Given the description of an element on the screen output the (x, y) to click on. 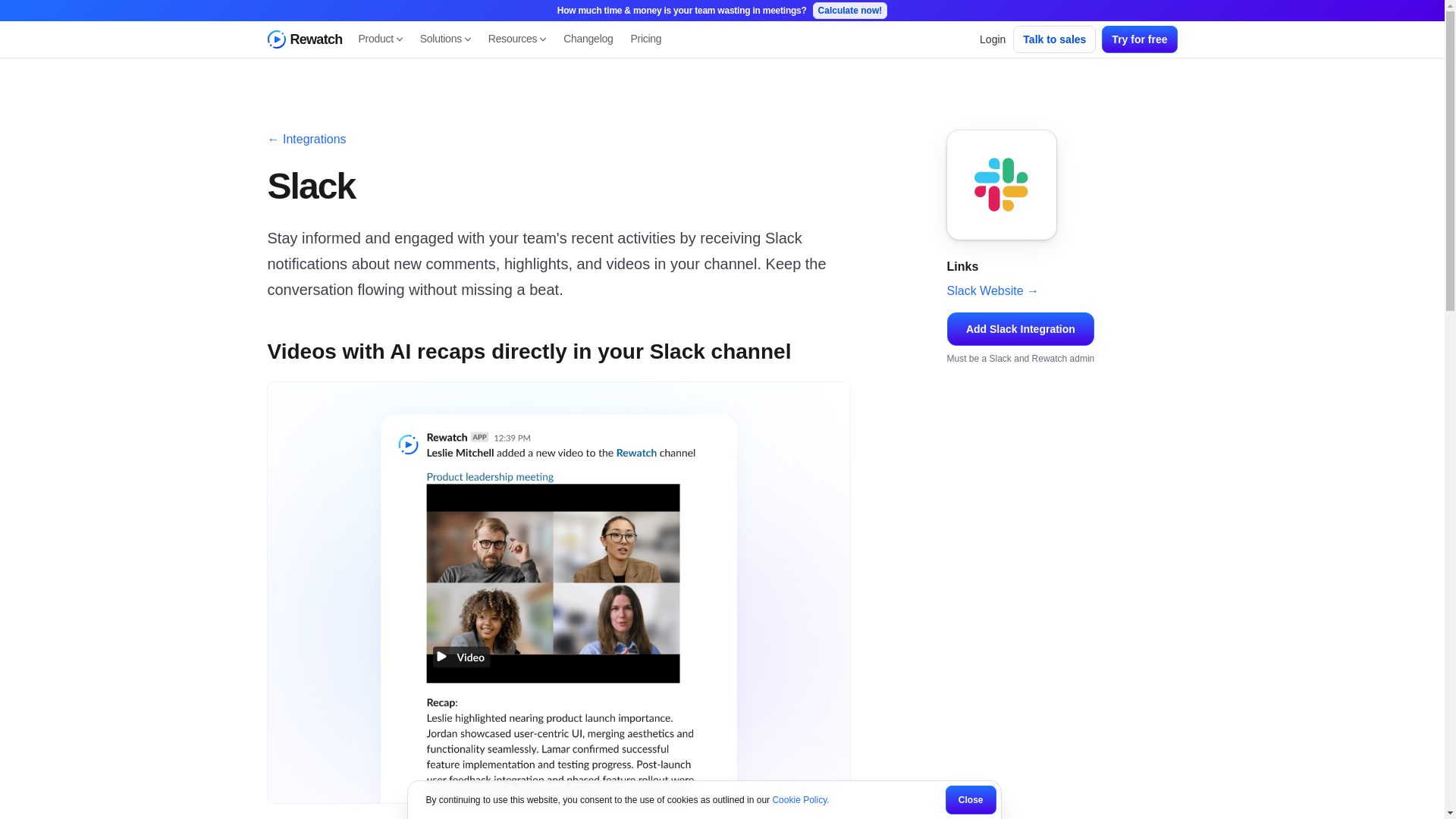
Pricing (645, 38)
Resources (517, 38)
Rewatch (303, 39)
Talk to sales (1054, 39)
Product (379, 38)
Changelog (587, 38)
Login (509, 39)
Try for free (992, 39)
Solutions (1139, 39)
